Given the description of an element on the screen output the (x, y) to click on. 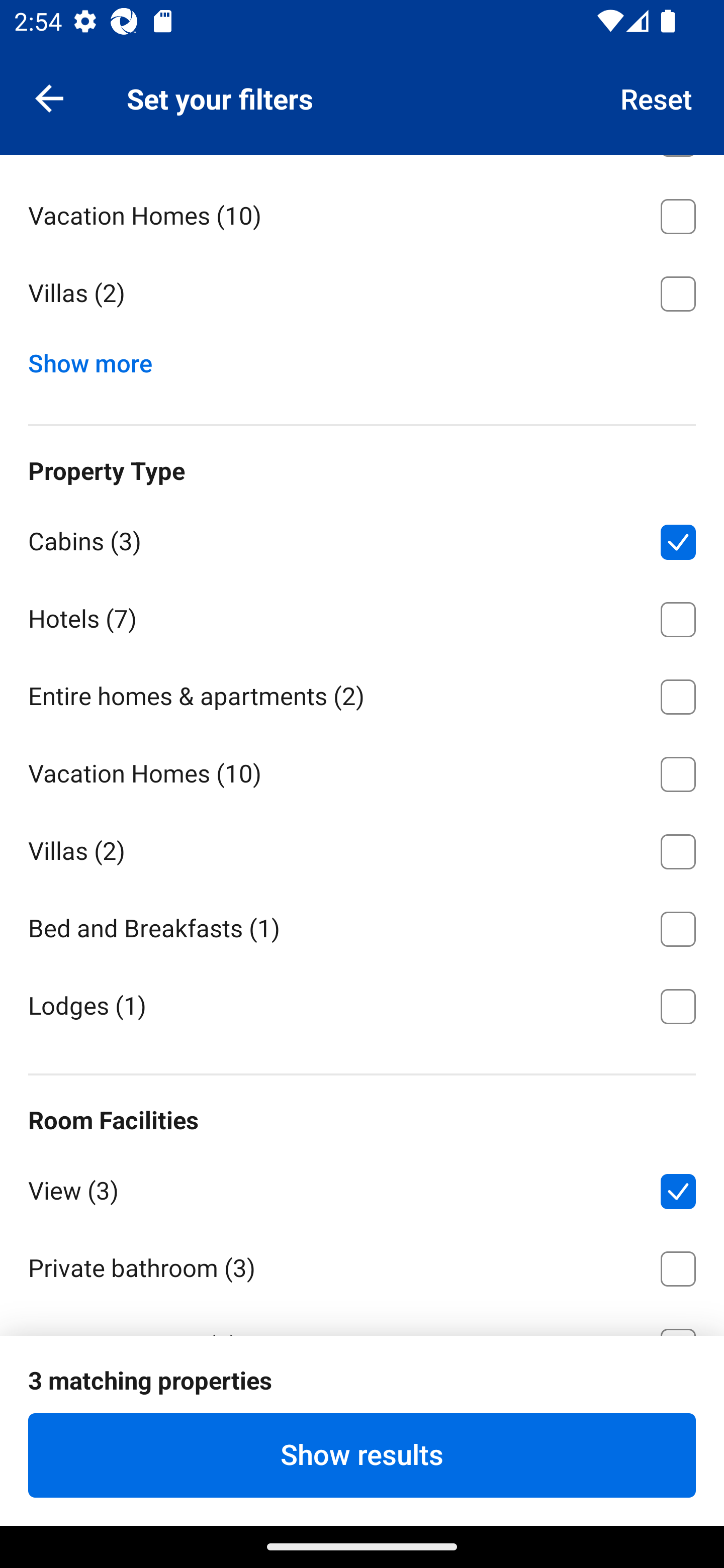
Navigate up (49, 97)
Reset (656, 97)
Vacation Homes ⁦(10) (361, 213)
Villas ⁦(2) (361, 293)
Show more (97, 358)
Cabins ⁦(3) (361, 538)
Hotels ⁦(7) (361, 616)
Entire homes & apartments ⁦(2) (361, 693)
Vacation Homes ⁦(10) (361, 770)
Villas ⁦(2) (361, 848)
Bed and Breakfasts ⁦(1) (361, 925)
Lodges ⁦(1) (361, 1004)
View ⁦(3) (361, 1187)
Private bathroom ⁦(3) (361, 1265)
Show results (361, 1454)
